Given the description of an element on the screen output the (x, y) to click on. 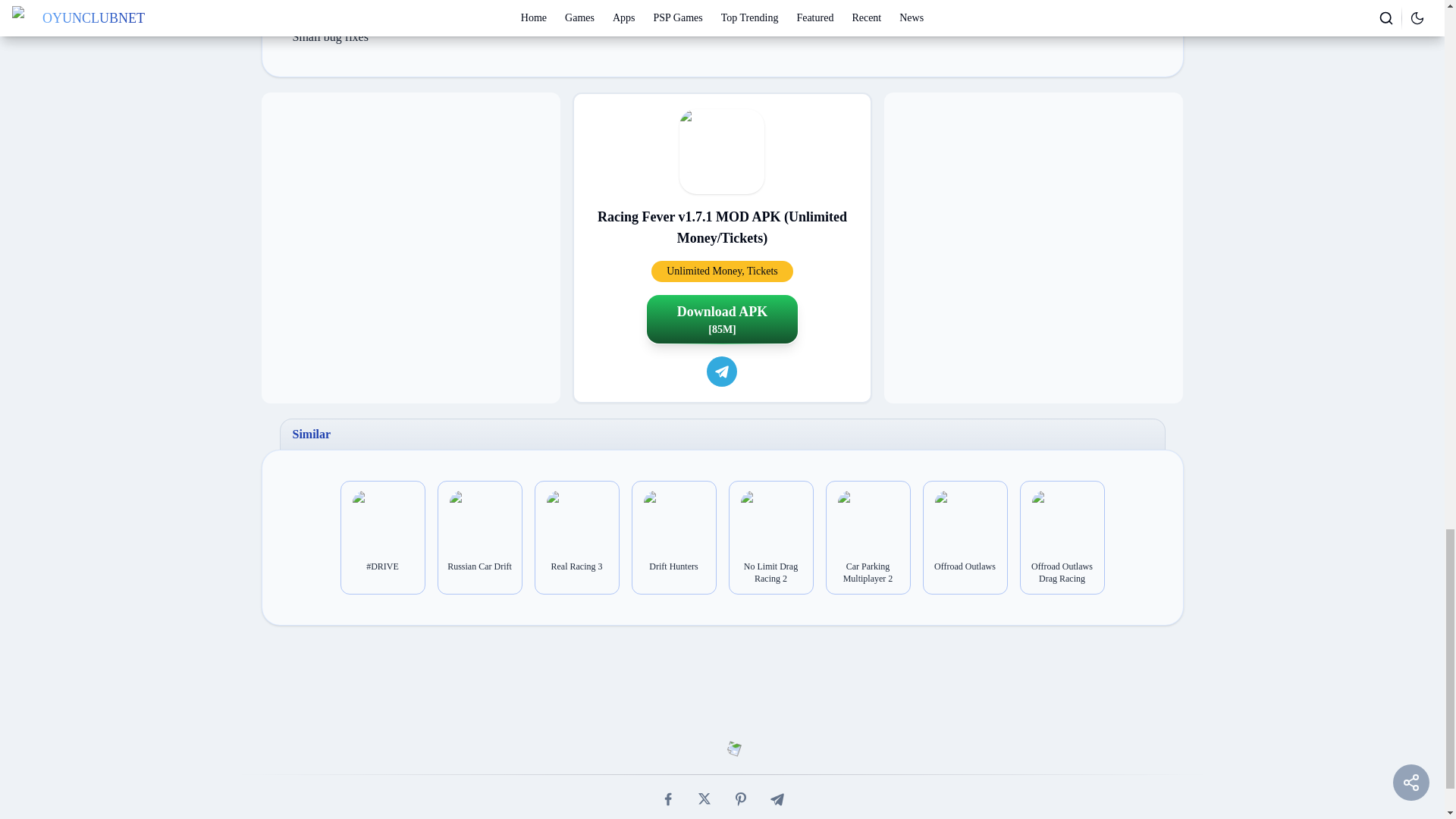
Offroad Outlaws (965, 566)
No Limit Drag Racing 2 (770, 572)
Russian Car Drift (479, 566)
oyunclubnet.com on Telegram (721, 371)
Offroad Outlaws Drag Racing (1061, 572)
Car Parking Multiplayer 2 (868, 572)
Real Racing 3 (577, 566)
Drift Hunters (674, 566)
